Given the description of an element on the screen output the (x, y) to click on. 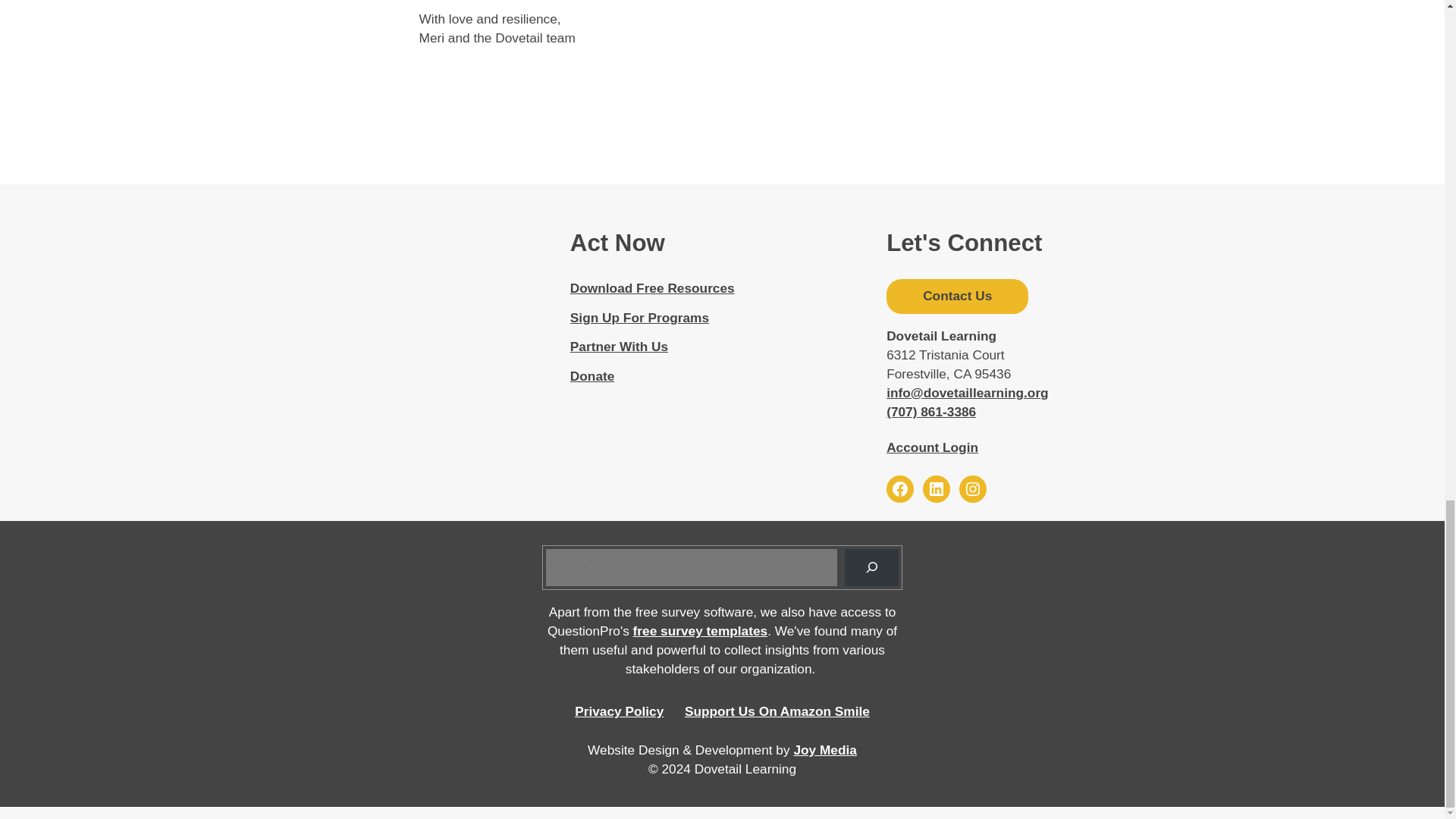
Donate (592, 376)
Contact Us (956, 296)
Partner With Us (619, 346)
Account Login (932, 447)
Sign Up For Programs (639, 317)
Download Free Resources (652, 287)
